Given the description of an element on the screen output the (x, y) to click on. 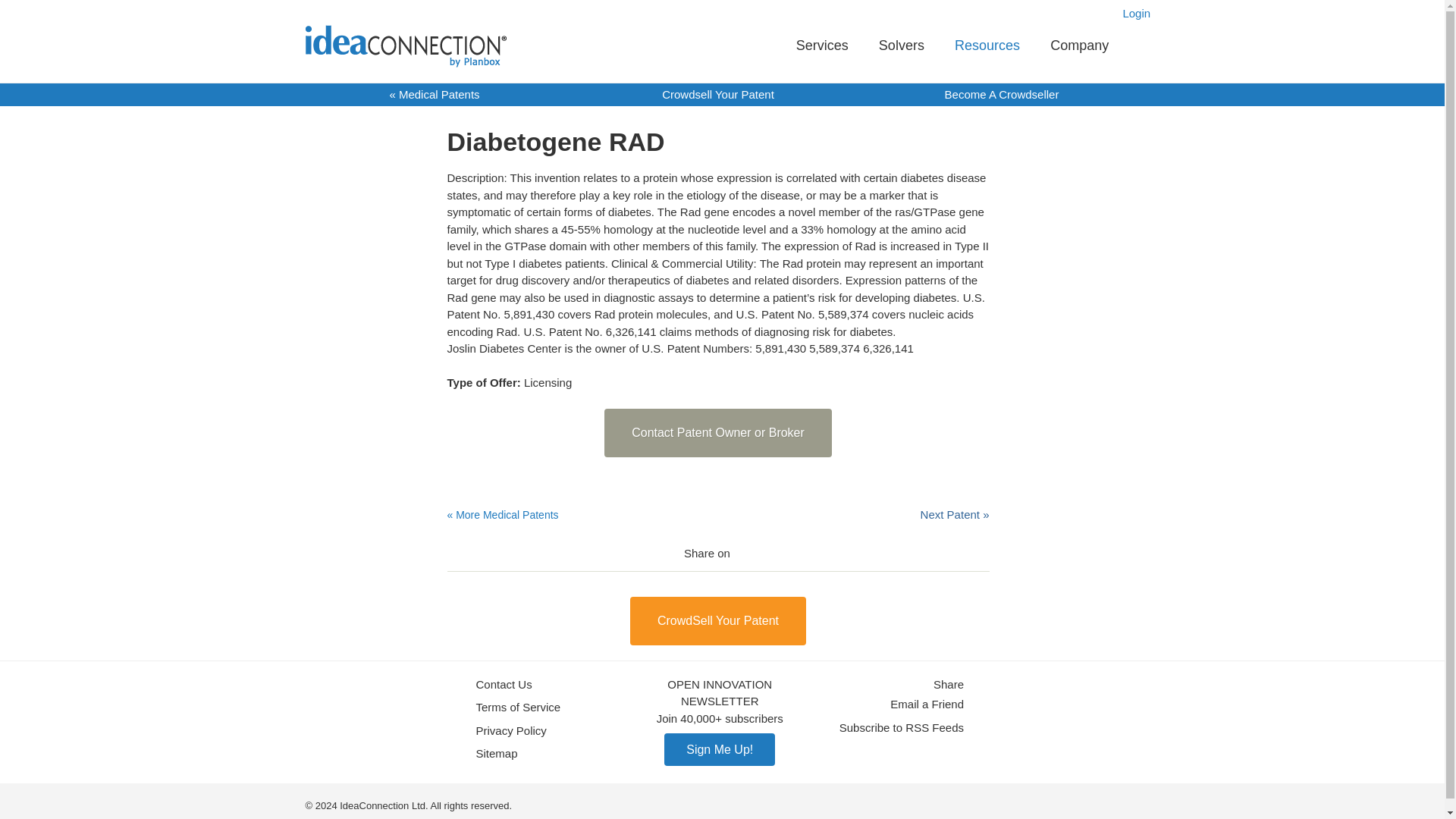
Contact Us (504, 684)
Resources (987, 45)
Privacy Policy (511, 730)
CrowdSell Your Patent (718, 620)
Login (1136, 12)
Crowdsell Your Patent (718, 93)
Terms of Service (518, 707)
Subscribe to RSS Feeds (901, 727)
Email a Friend (926, 704)
Become A Crowdseller (1001, 93)
Contact Patent Owner or Broker (717, 432)
